Given the description of an element on the screen output the (x, y) to click on. 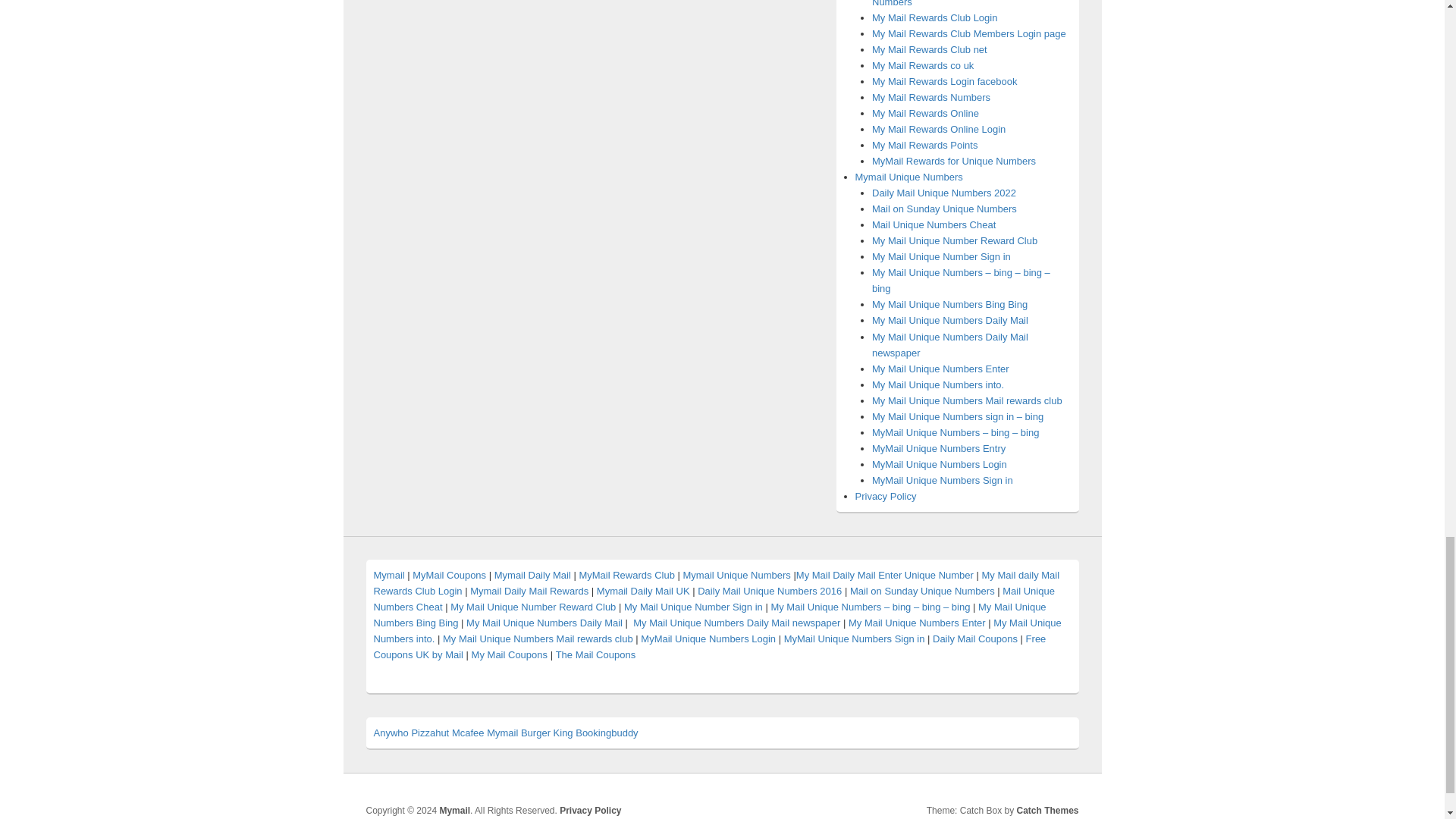
Mymail (454, 810)
Catch Themes (1047, 810)
